Given the description of an element on the screen output the (x, y) to click on. 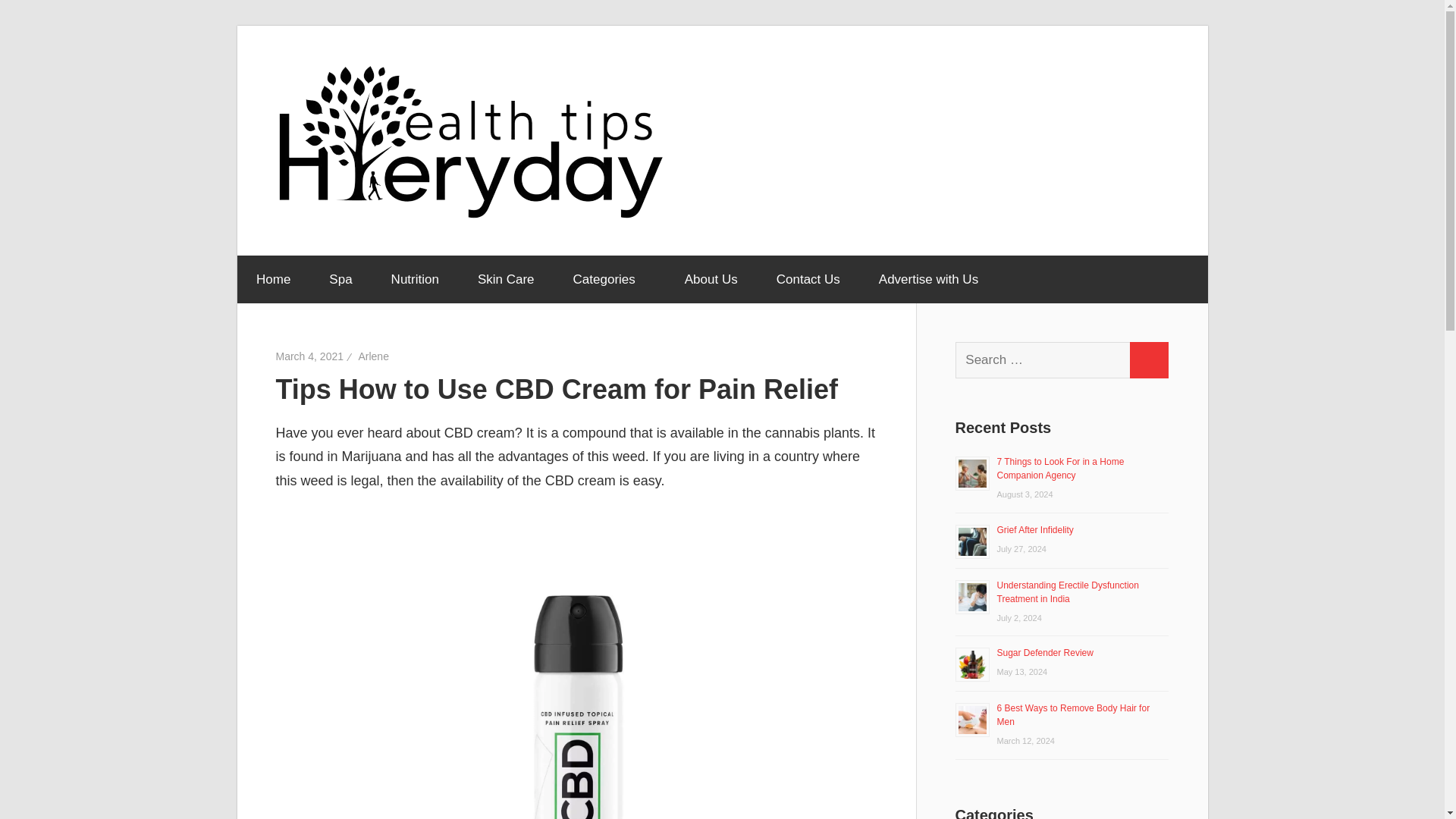
Search (1148, 360)
Arlene (373, 356)
March 4, 2021 (309, 356)
1:50 am (309, 356)
About Us (711, 278)
Contact Us (808, 278)
Spa (340, 278)
Grief After Infidelity (1034, 529)
Skin Care (505, 278)
